Given the description of an element on the screen output the (x, y) to click on. 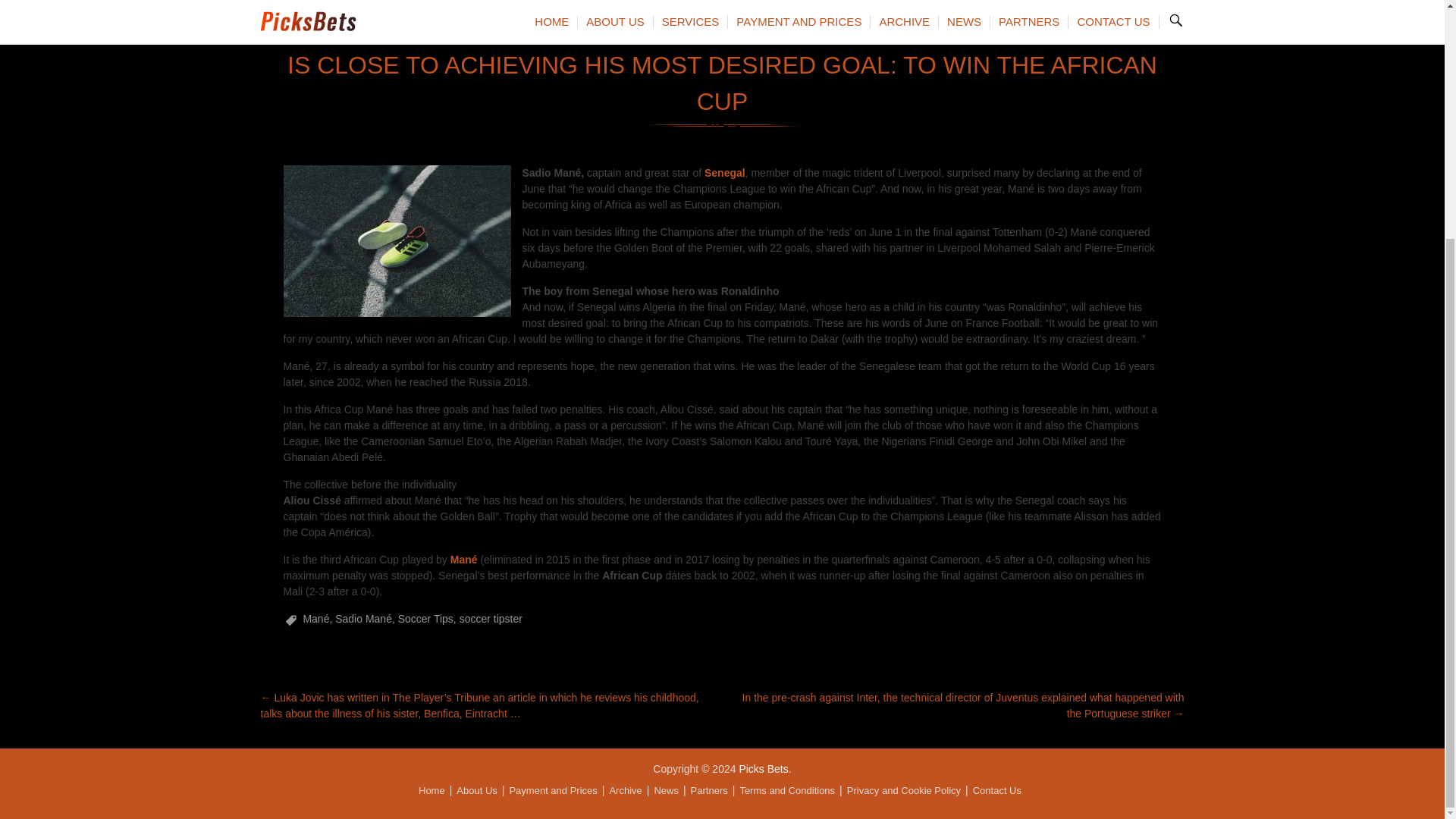
Privacy and Cookie Policy (903, 790)
About Us (476, 790)
Partners (709, 790)
Home (432, 790)
Senegal (724, 173)
Soccer Tips (424, 618)
Terms and Conditions (786, 790)
Picks Bets (762, 768)
Payment and Prices (552, 790)
soccer tipster (491, 618)
